Given the description of an element on the screen output the (x, y) to click on. 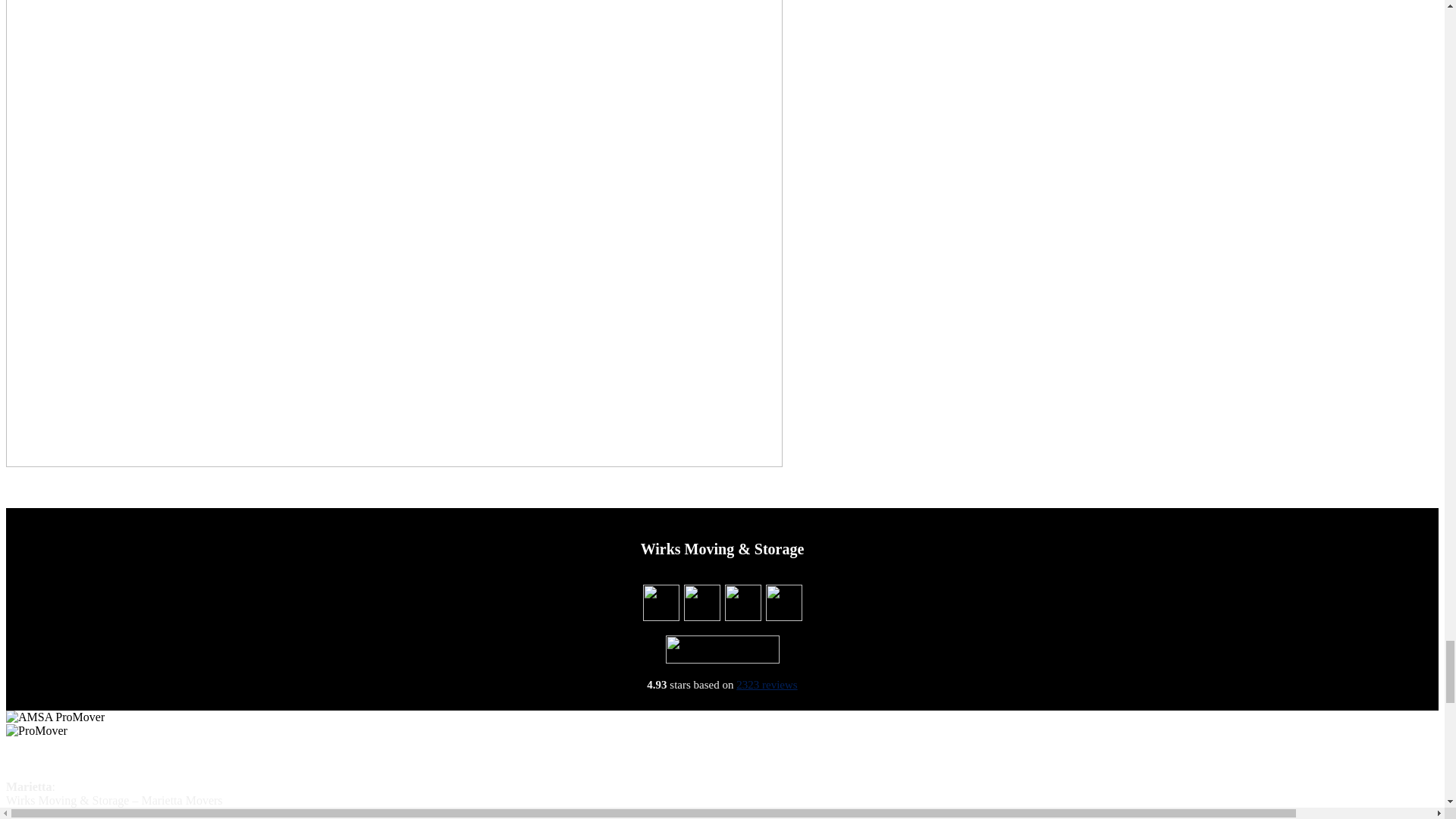
promover (35, 730)
